Given the description of an element on the screen output the (x, y) to click on. 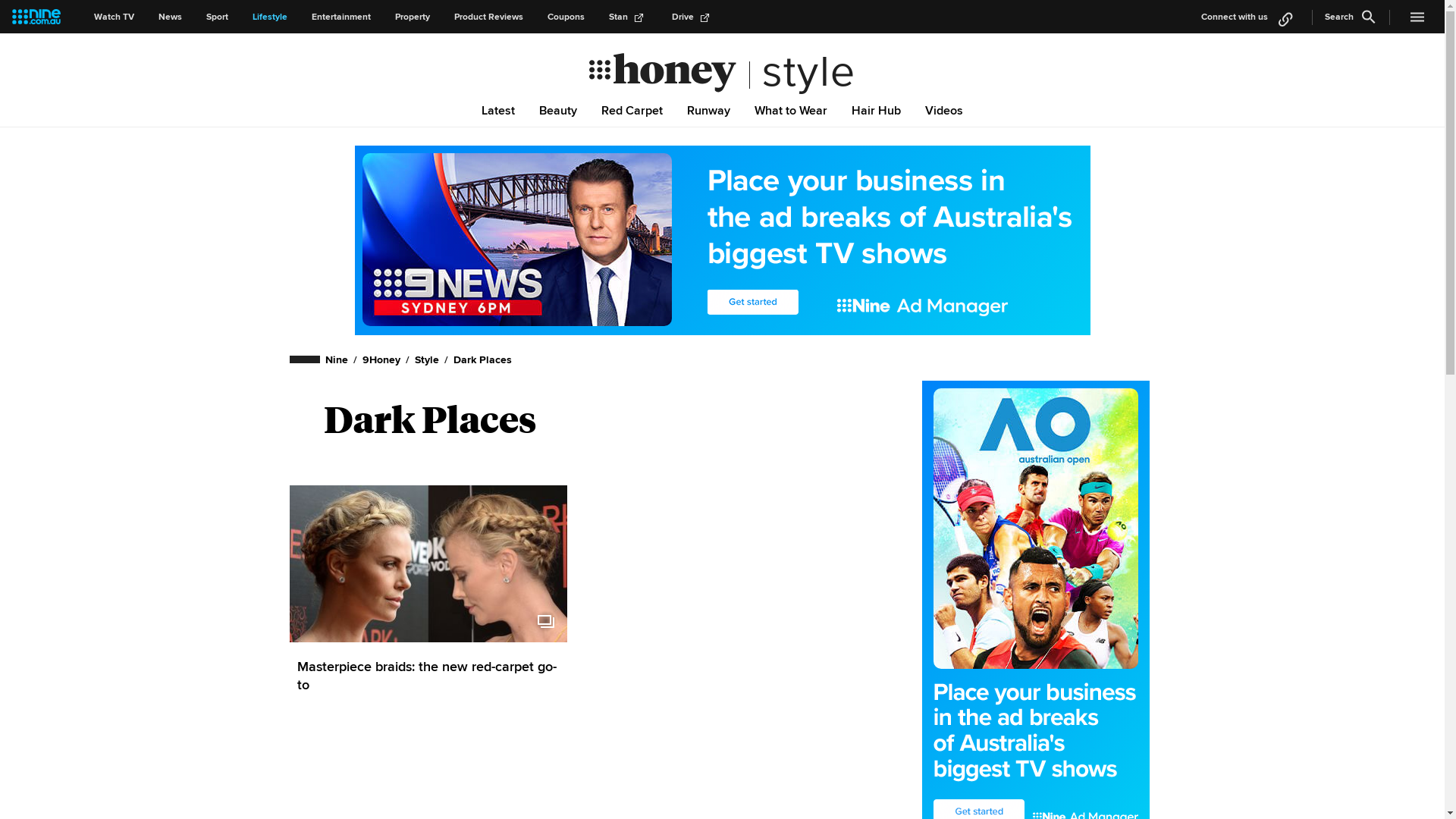
Drive Element type: text (692, 16)
style Element type: text (802, 71)
Lifestyle Element type: text (269, 16)
Coupons Element type: text (565, 16)
Sport Element type: text (217, 16)
Product Reviews Element type: text (488, 16)
Style Element type: text (426, 359)
3rd party ad content Element type: hover (722, 240)
Videos Element type: text (944, 109)
Property Element type: text (412, 16)
Runway Element type: text (708, 109)
Beauty Element type: text (558, 109)
Dark Places Element type: text (481, 359)
Hair Hub Element type: text (876, 109)
Masterpiece braids: the new red-carpet go-to Element type: text (428, 675)
Latest Element type: text (498, 109)
Entertainment Element type: text (340, 16)
What to Wear Element type: text (790, 109)
Watch TV Element type: text (114, 16)
Stan Element type: text (627, 16)
Red Carpet Element type: text (631, 109)
9Honey Element type: text (380, 359)
News Element type: text (170, 16)
Nine Element type: text (336, 359)
